Given the description of an element on the screen output the (x, y) to click on. 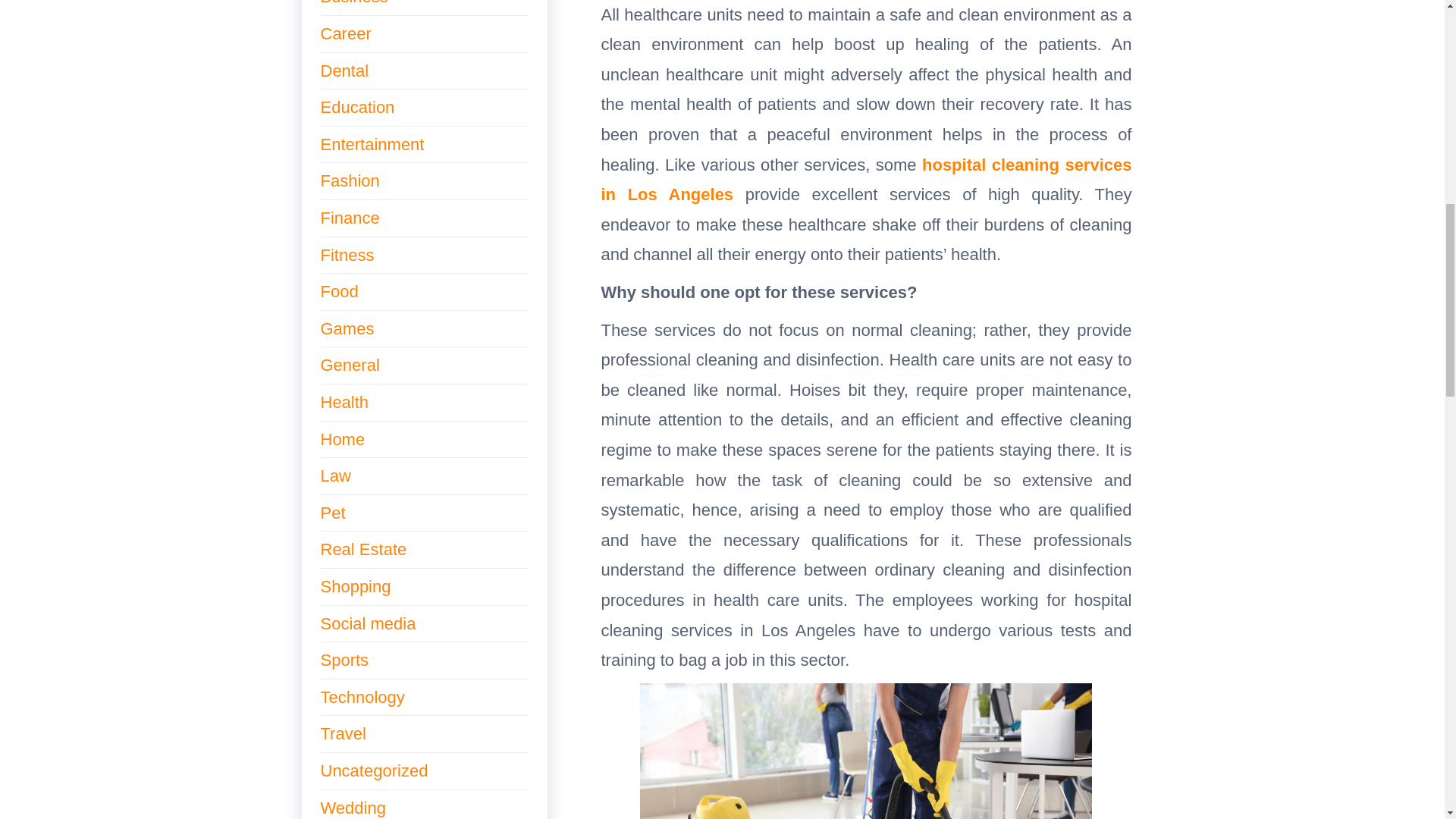
Finance (349, 217)
Business (353, 2)
Health (344, 402)
General (349, 364)
Social media (367, 623)
Career (345, 33)
Shopping (355, 586)
Fashion (349, 180)
Wedding (352, 807)
Sports (344, 659)
Travel (342, 732)
Games (347, 328)
Education (357, 107)
hospital cleaning services in Los Angeles (865, 179)
Home (342, 438)
